Given the description of an element on the screen output the (x, y) to click on. 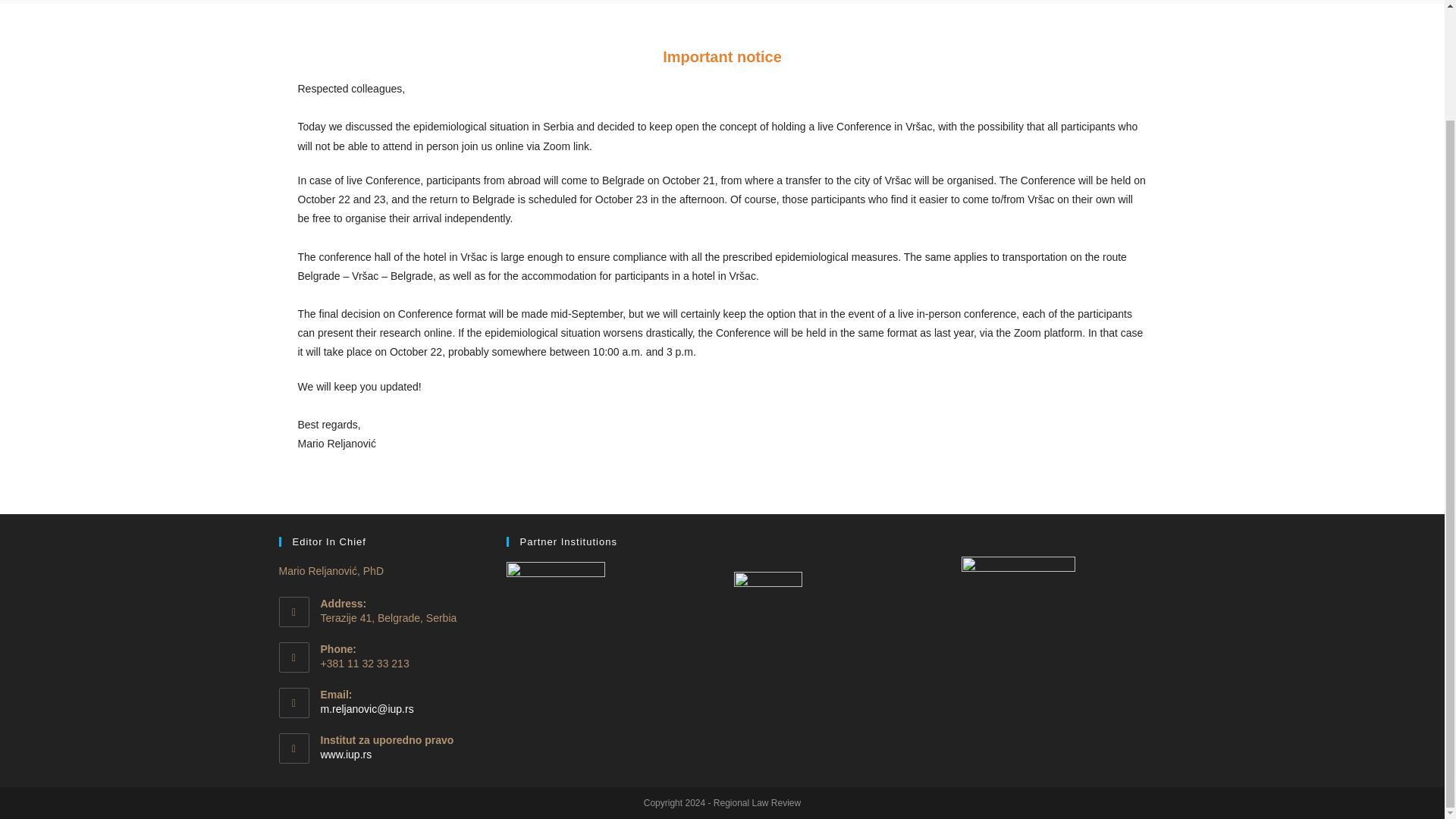
FOR AUTHORS (624, 2)
SUBMISSION (727, 2)
ARCHIVES (818, 2)
CONFERENCE (513, 2)
HOME (416, 2)
INDEXING (904, 2)
www.iup.rs (345, 754)
CONTACT (986, 2)
